Given the description of an element on the screen output the (x, y) to click on. 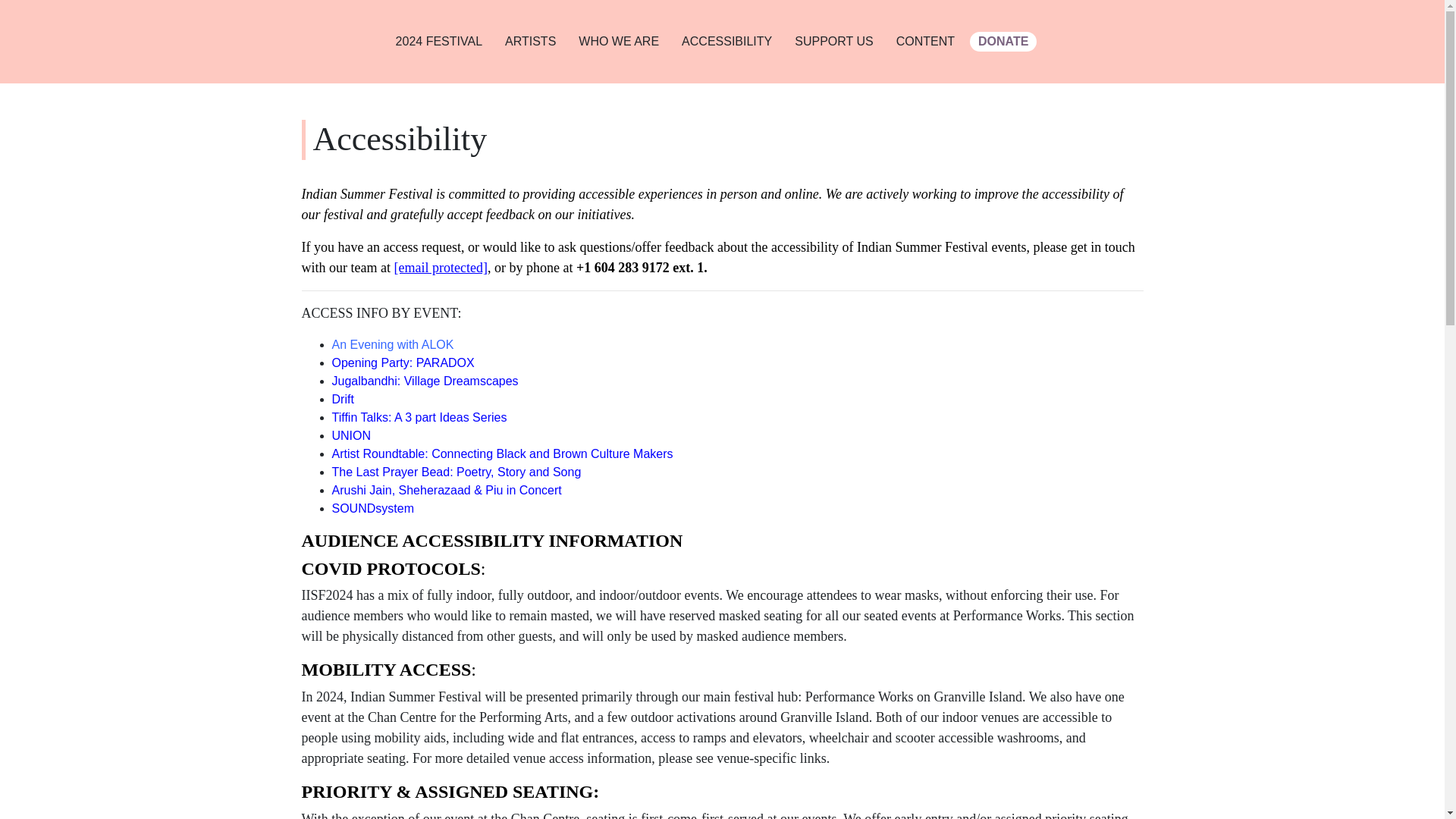
ACCESSIBILITY (726, 41)
WHO WE ARE (618, 41)
SUPPORT US (833, 41)
2024 FESTIVAL (438, 41)
ARTISTS (530, 41)
DONATE (1002, 41)
CONTENT (925, 41)
